Given the description of an element on the screen output the (x, y) to click on. 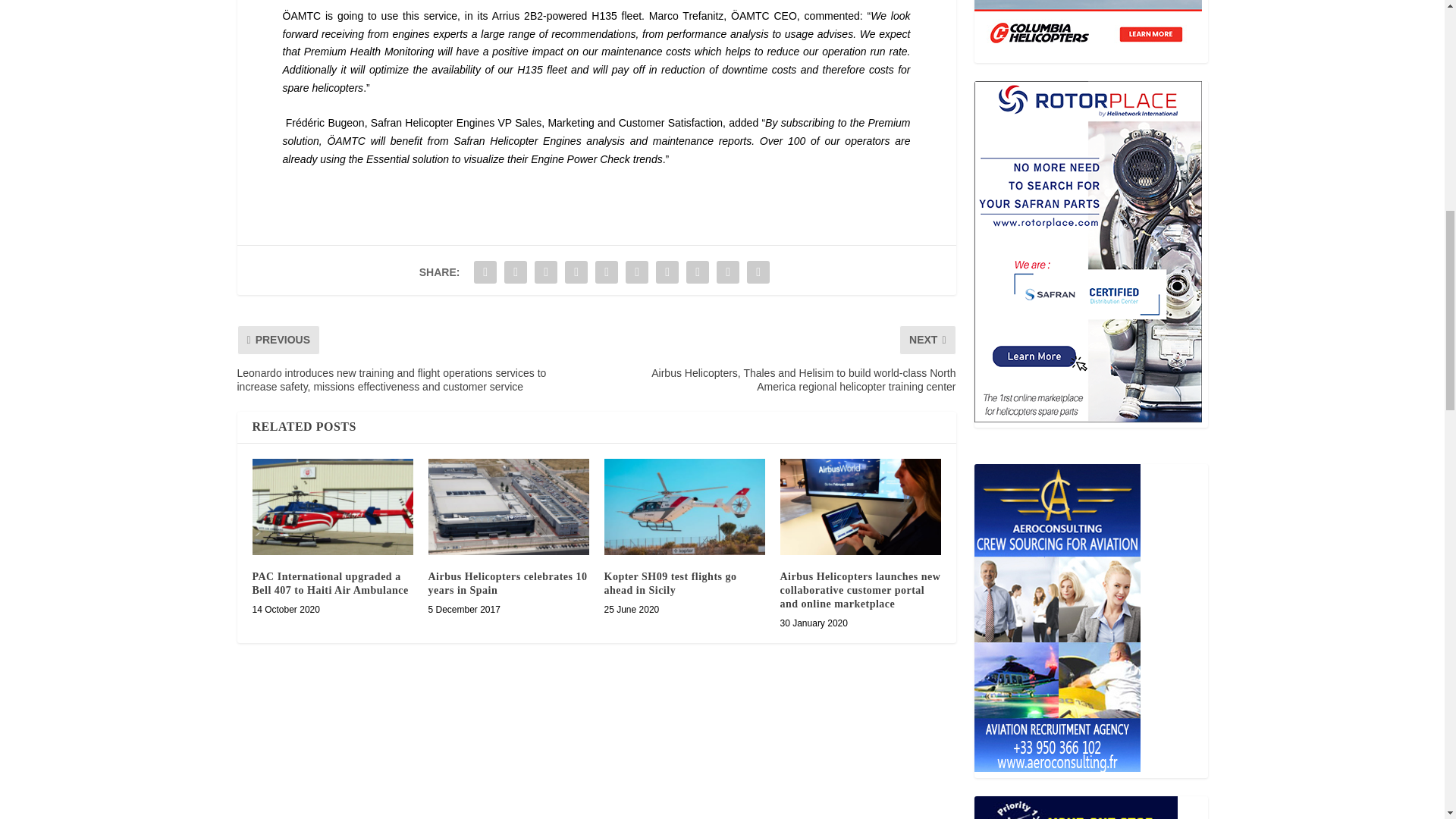
Airbus Helicopters celebrates 10 years in Spain (508, 506)
Kopter SH09 test flights go ahead in Sicily (684, 506)
